Given the description of an element on the screen output the (x, y) to click on. 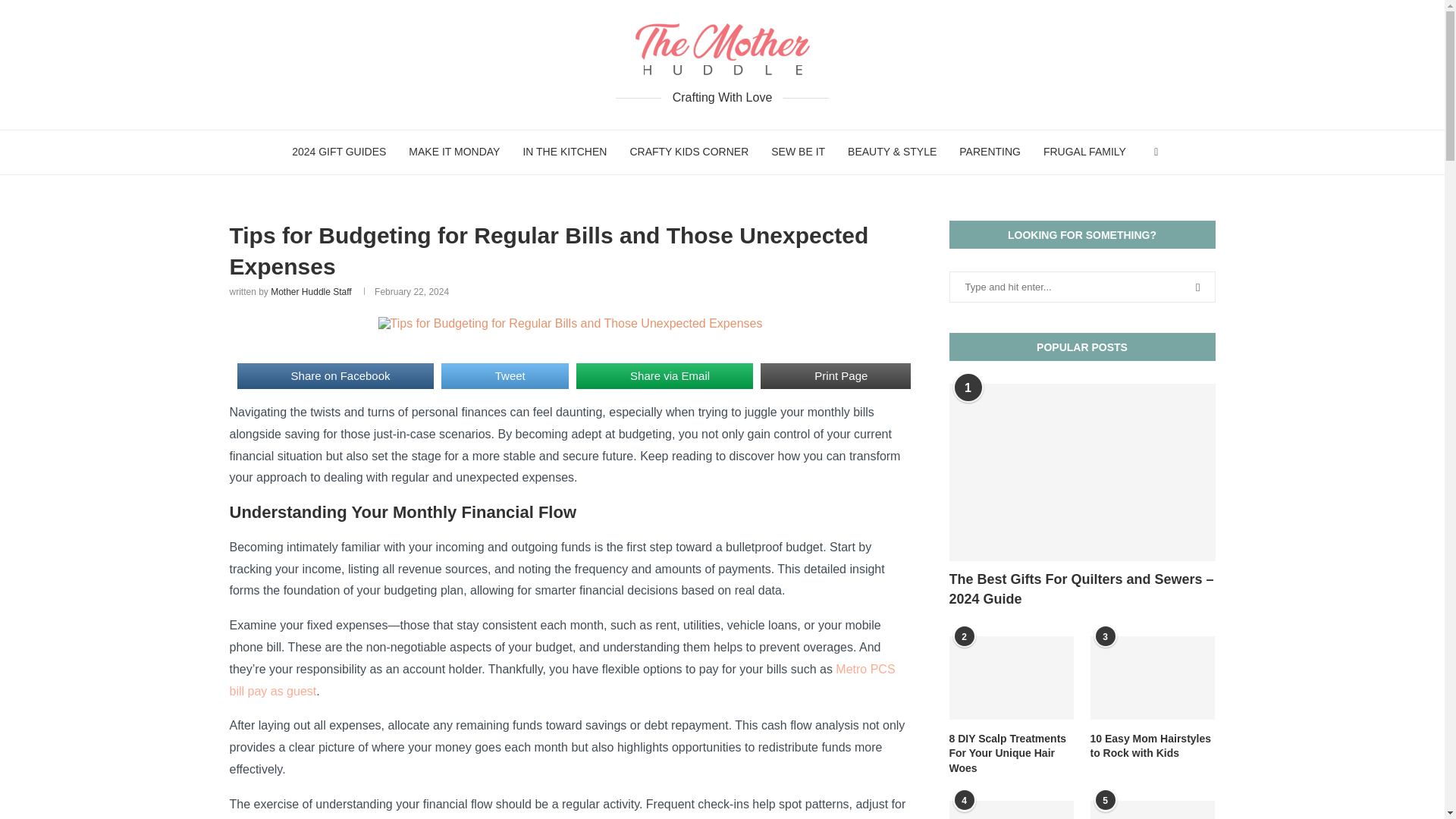
Print Page (835, 375)
FRUGAL FAMILY (1084, 152)
2024 GIFT GUIDES (339, 152)
IN THE KITCHEN (564, 152)
Share on Facebook (333, 375)
Mother Huddle Staff (311, 291)
Tweet (505, 375)
SEW BE IT (797, 152)
Metro PCS bill pay as guest (561, 679)
